Given the description of an element on the screen output the (x, y) to click on. 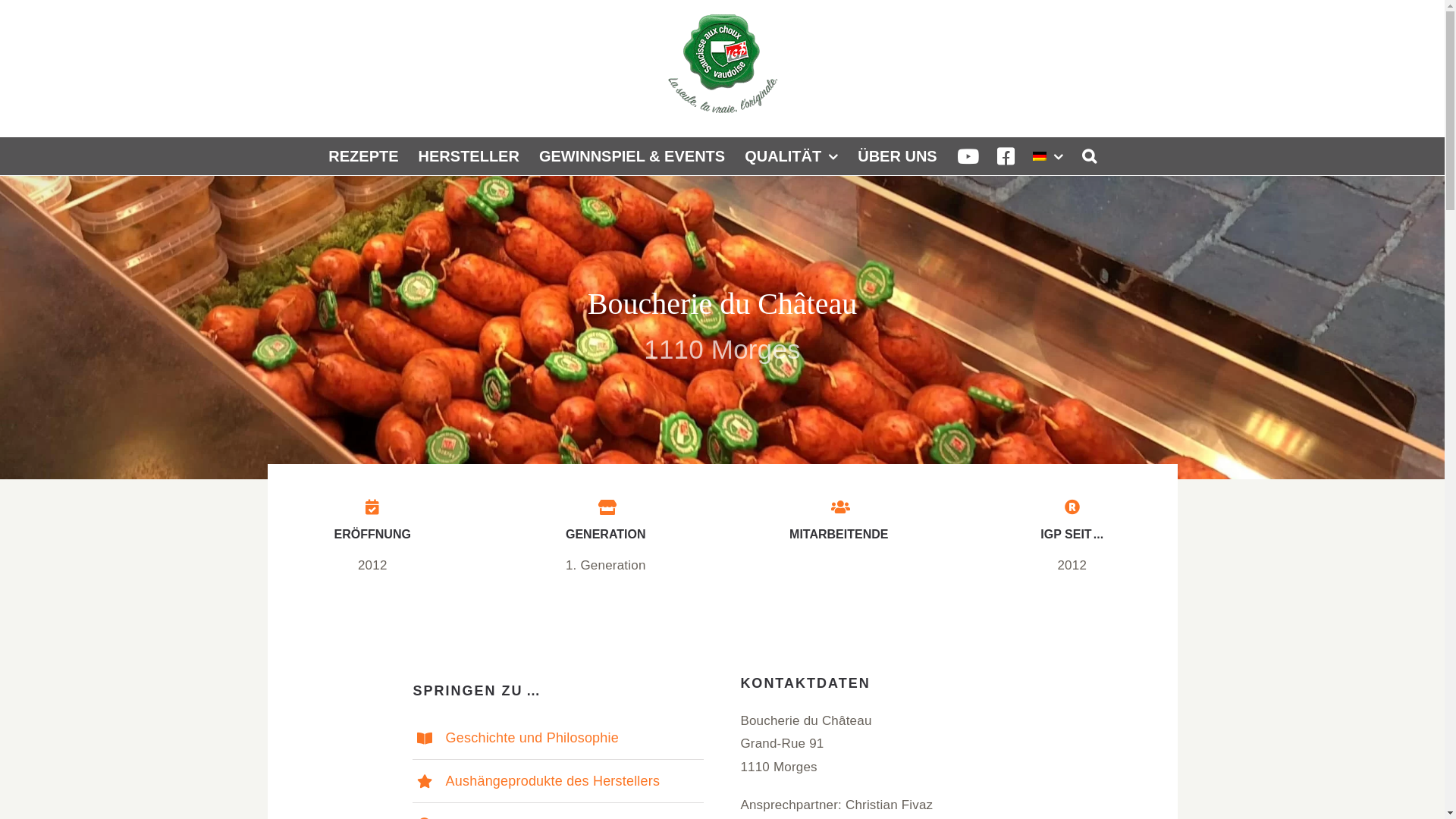
Geschichte und Philosophie Element type: text (531, 737)
GEWINNSPIEL & EVENTS Element type: text (631, 156)
Suchen Element type: hover (1089, 156)
REZEPTE Element type: text (363, 156)
HERSTELLER Element type: text (468, 156)
